Given the description of an element on the screen output the (x, y) to click on. 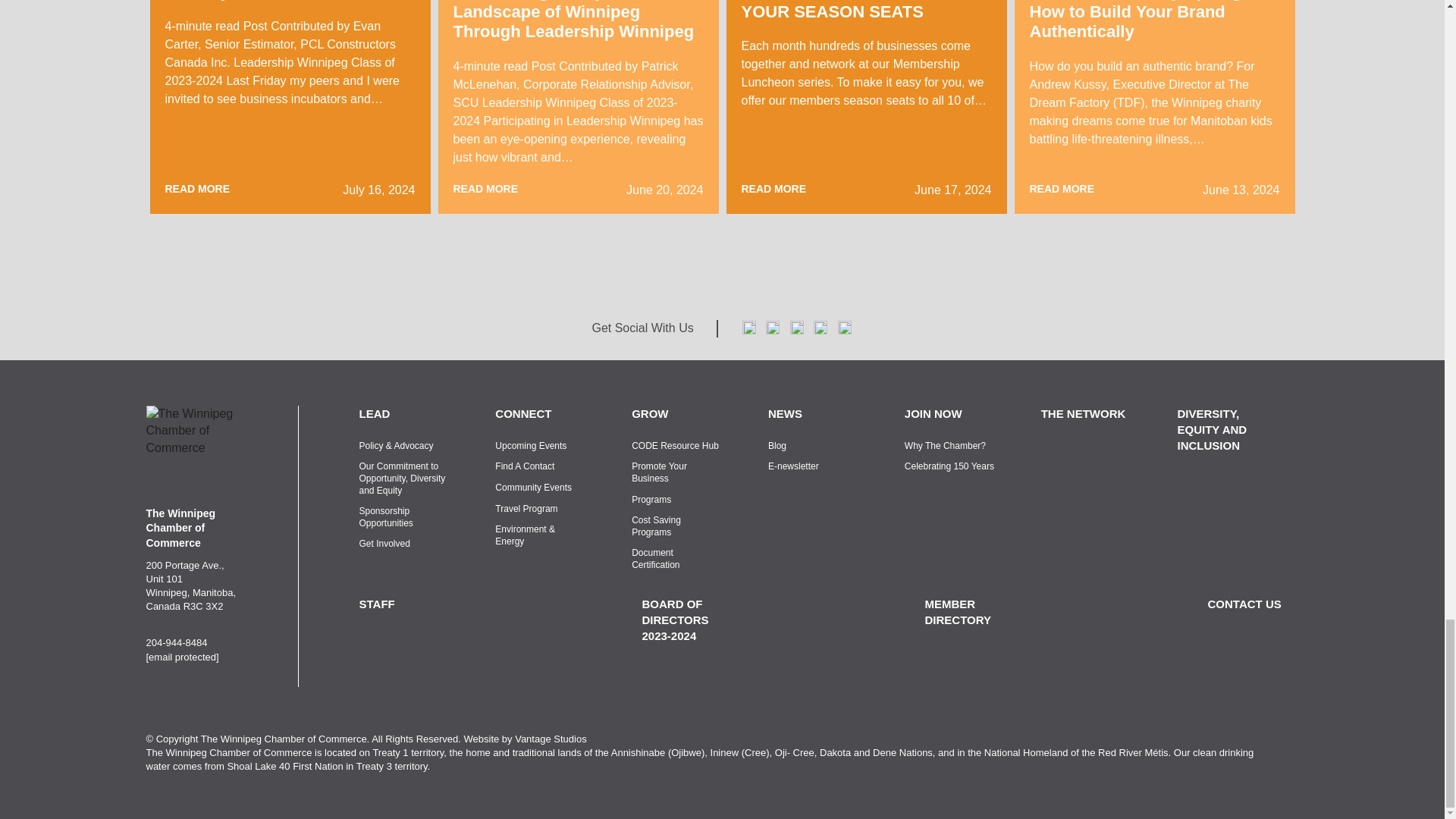
READ MORE (1061, 190)
LEAD (404, 413)
READ MORE (773, 190)
READ MORE (485, 190)
Our Commitment to Opportunity, Diversity and Equity (404, 478)
SEVEN REASONS TO GET YOUR SEASON SEATS (846, 10)
READ MORE (197, 190)
